Given the description of an element on the screen output the (x, y) to click on. 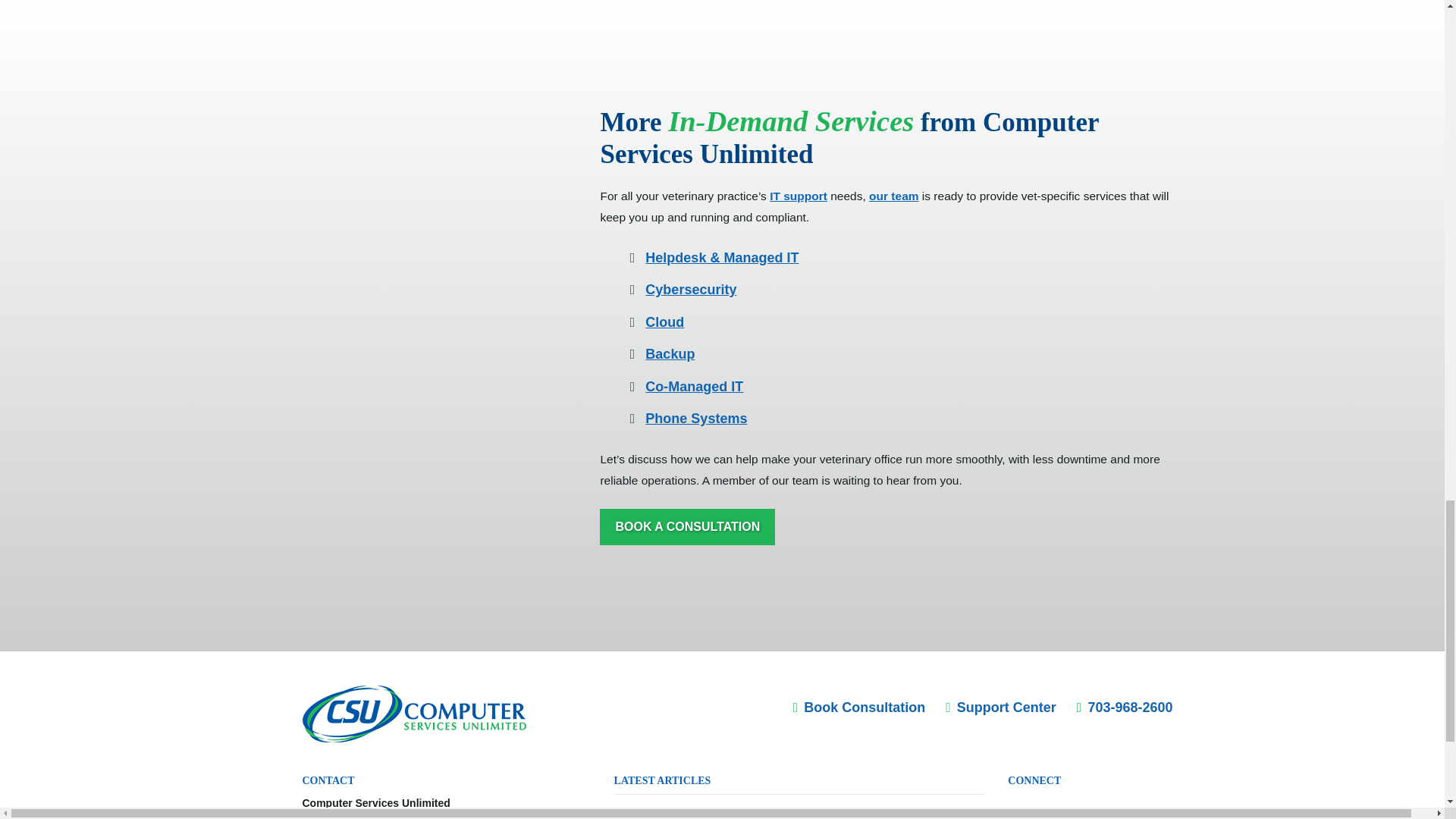
703-968-2600 (1125, 707)
IT support (798, 195)
Book Consultation (859, 707)
Cybersecurity (690, 289)
our team (893, 195)
Co-Managed IT (693, 386)
BOOK A CONSULTATION (686, 527)
Phone Systems (695, 418)
Backup (669, 353)
